Given the description of an element on the screen output the (x, y) to click on. 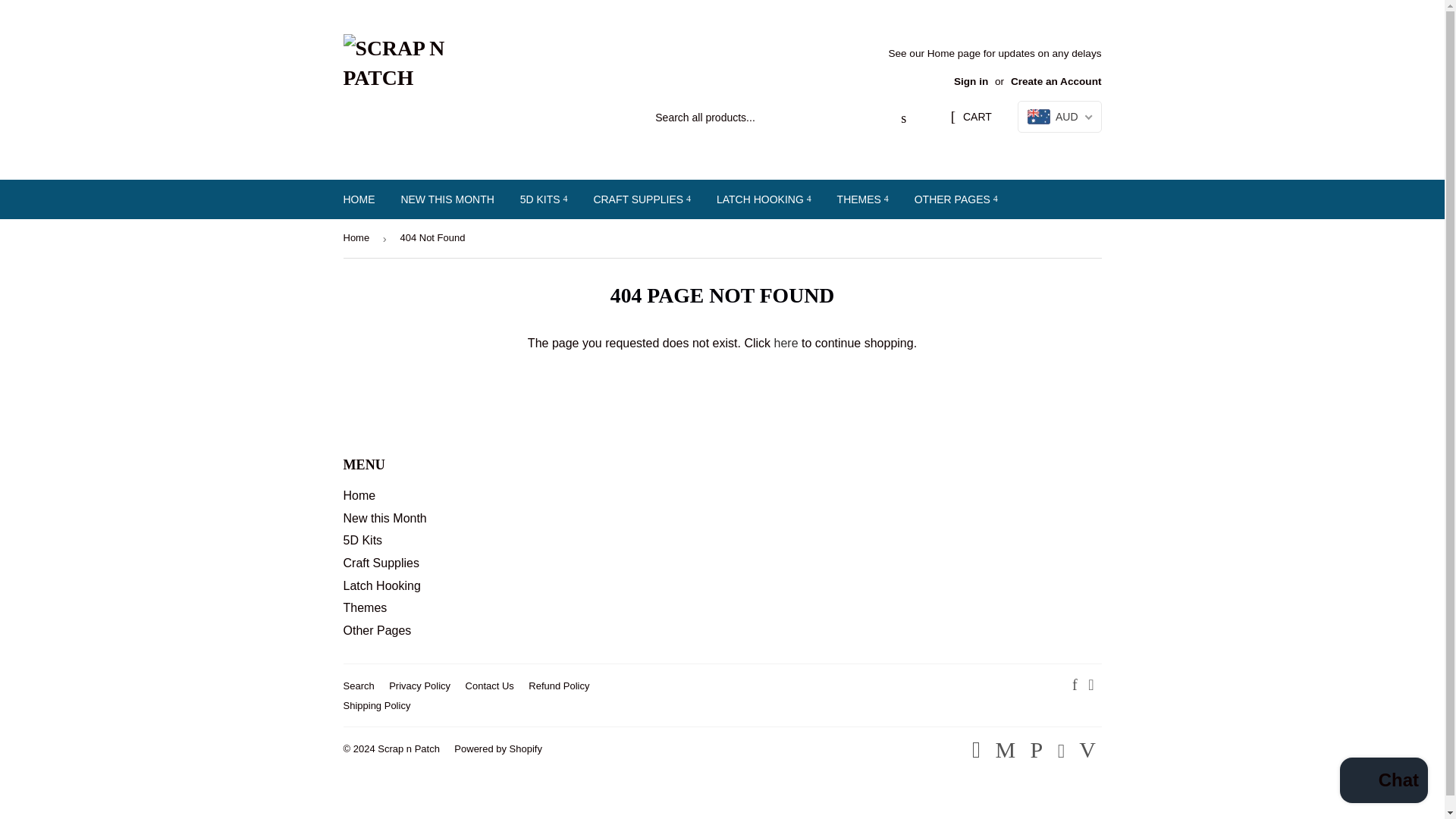
CART (971, 117)
Create an Account (1056, 81)
Sign in (970, 81)
Search (903, 118)
Shopify online store chat (1383, 781)
